Given the description of an element on the screen output the (x, y) to click on. 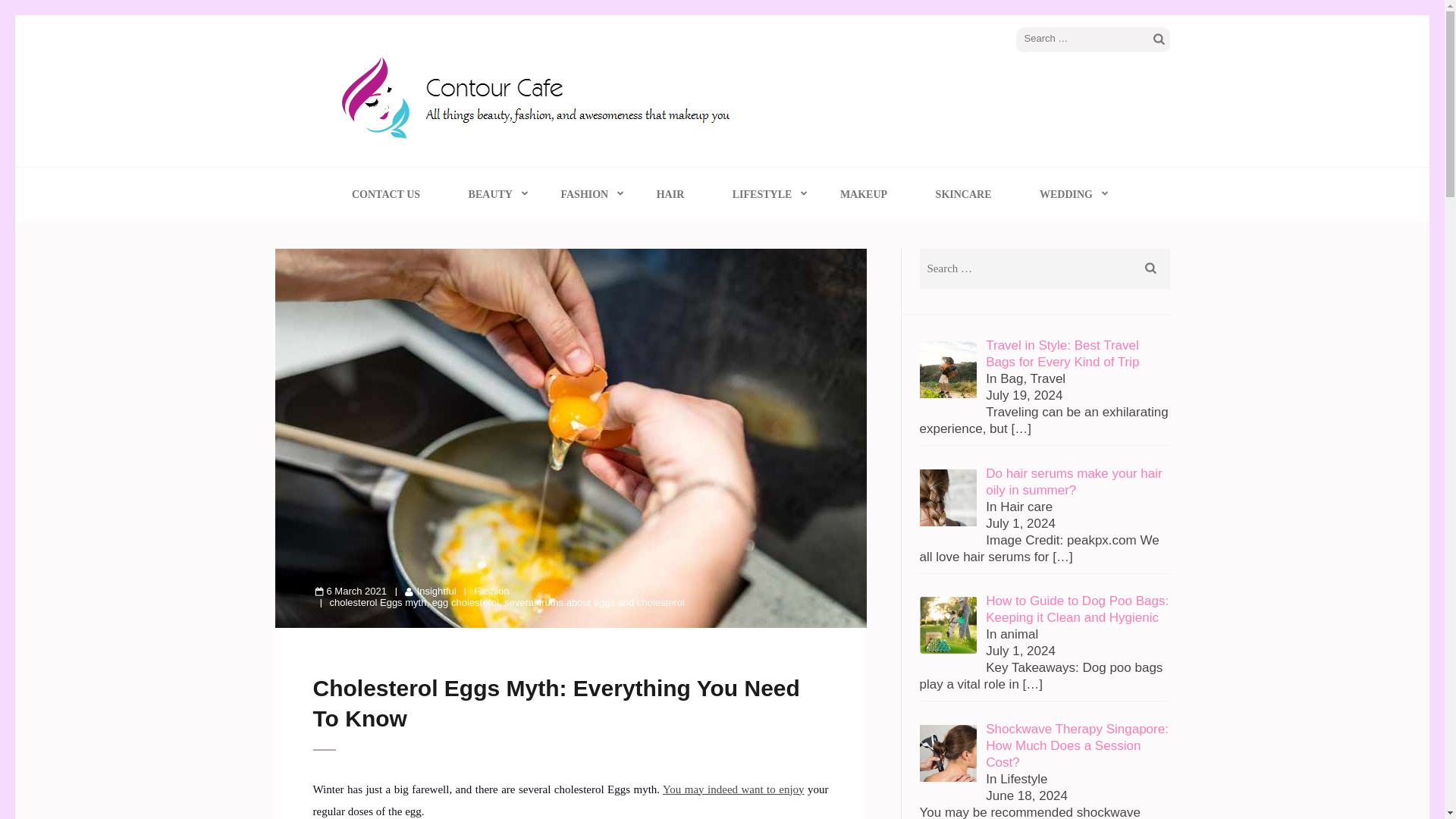
Search (1150, 268)
Search (1150, 268)
Search (1158, 39)
Search (1158, 39)
